Given the description of an element on the screen output the (x, y) to click on. 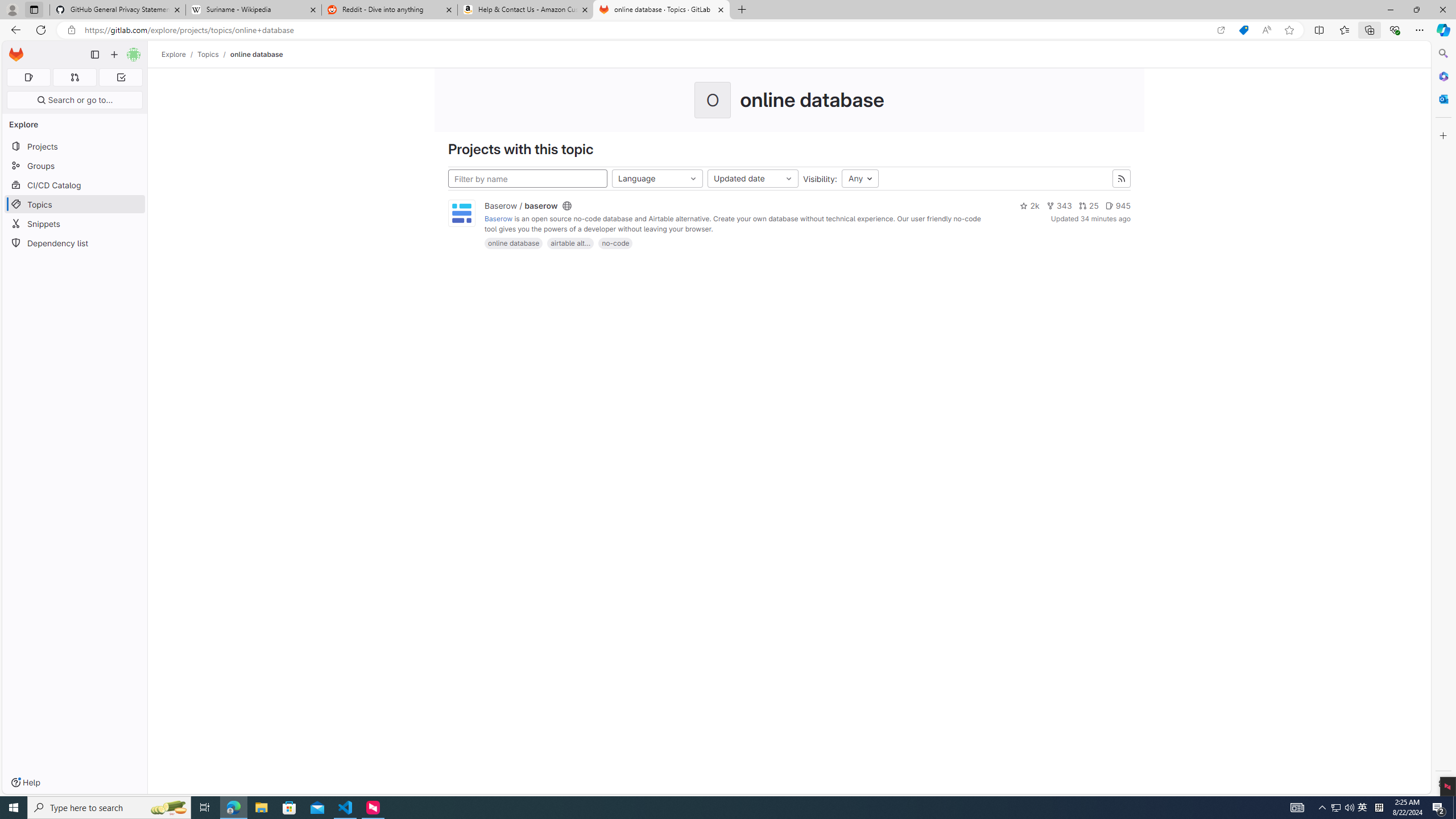
Explore/ (179, 53)
Language (657, 178)
25 (1088, 205)
343 (1058, 205)
Any (860, 178)
Projects (74, 145)
To-Do list 0 (120, 76)
Topics (208, 53)
Assigned issues 0 (28, 76)
Snippets (74, 223)
